Given the description of an element on the screen output the (x, y) to click on. 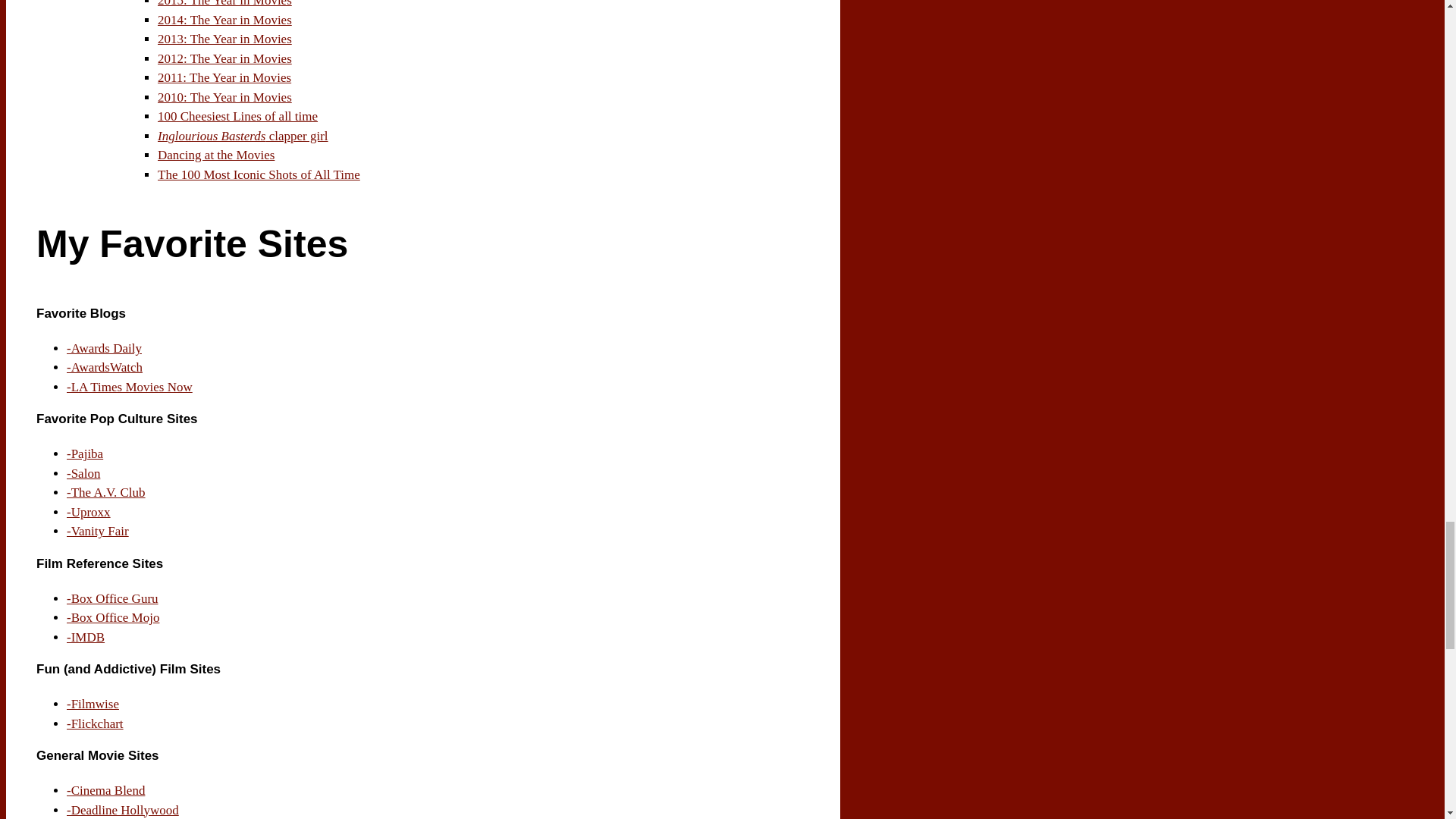
Pop Culture just the way I like it (84, 453)
Los Angeles Times Movie Blog (129, 386)
General pop culture blog (105, 492)
An intelligent site with a little of everything (83, 473)
A constant Oscar race fix (104, 367)
THE movie reference source (85, 636)
Oscar Buzz blog (103, 348)
A great site with a little bit of everything (112, 617)
